Given the description of an element on the screen output the (x, y) to click on. 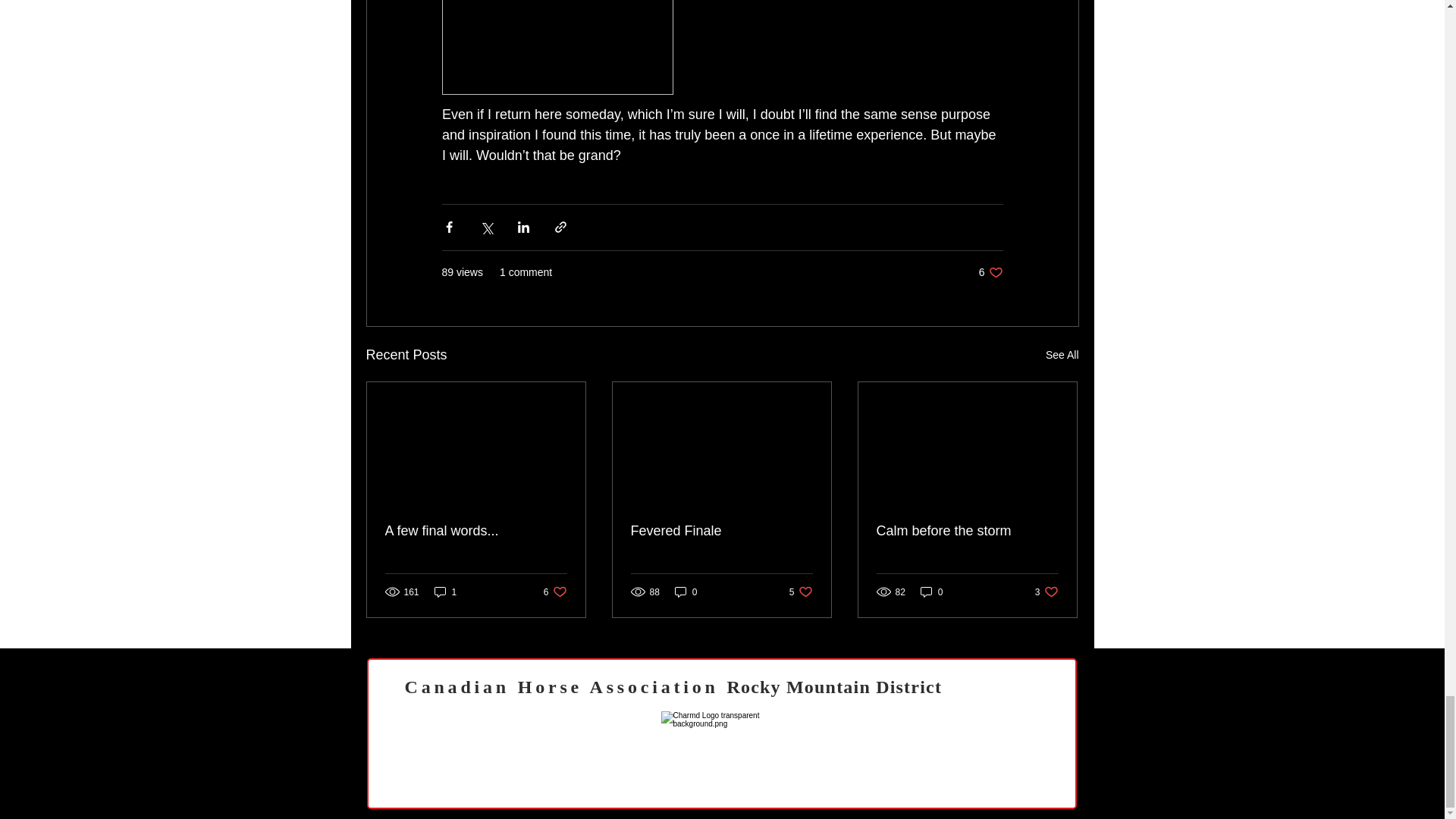
1 (800, 591)
A few final words... (445, 591)
0 (555, 591)
See All (476, 530)
Fevered Finale (685, 591)
Calm before the storm (1061, 354)
